Given the description of an element on the screen output the (x, y) to click on. 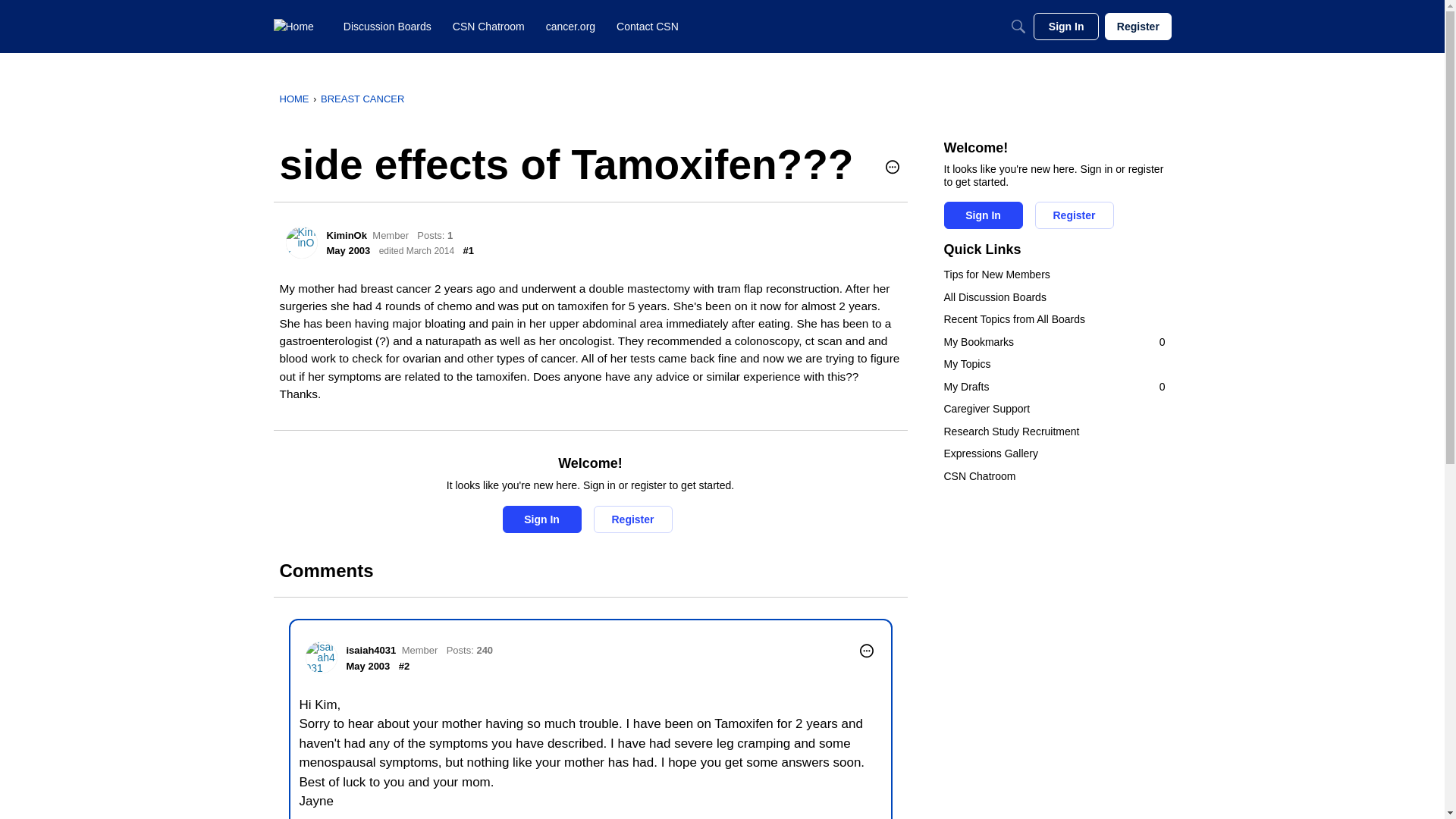
isaiah4031 (371, 650)
Search (1018, 26)
cancer.org (570, 26)
Tips for New Members (1053, 274)
Register (631, 519)
Register (1073, 215)
My Topics (1053, 363)
Sign In (541, 519)
Edited March 15, 2014 9:49AM. (416, 250)
Sign In (982, 215)
Discussion Boards (387, 26)
KiminOk (1053, 386)
Recent Topics from All Boards (301, 242)
Register (1053, 319)
